Given the description of an element on the screen output the (x, y) to click on. 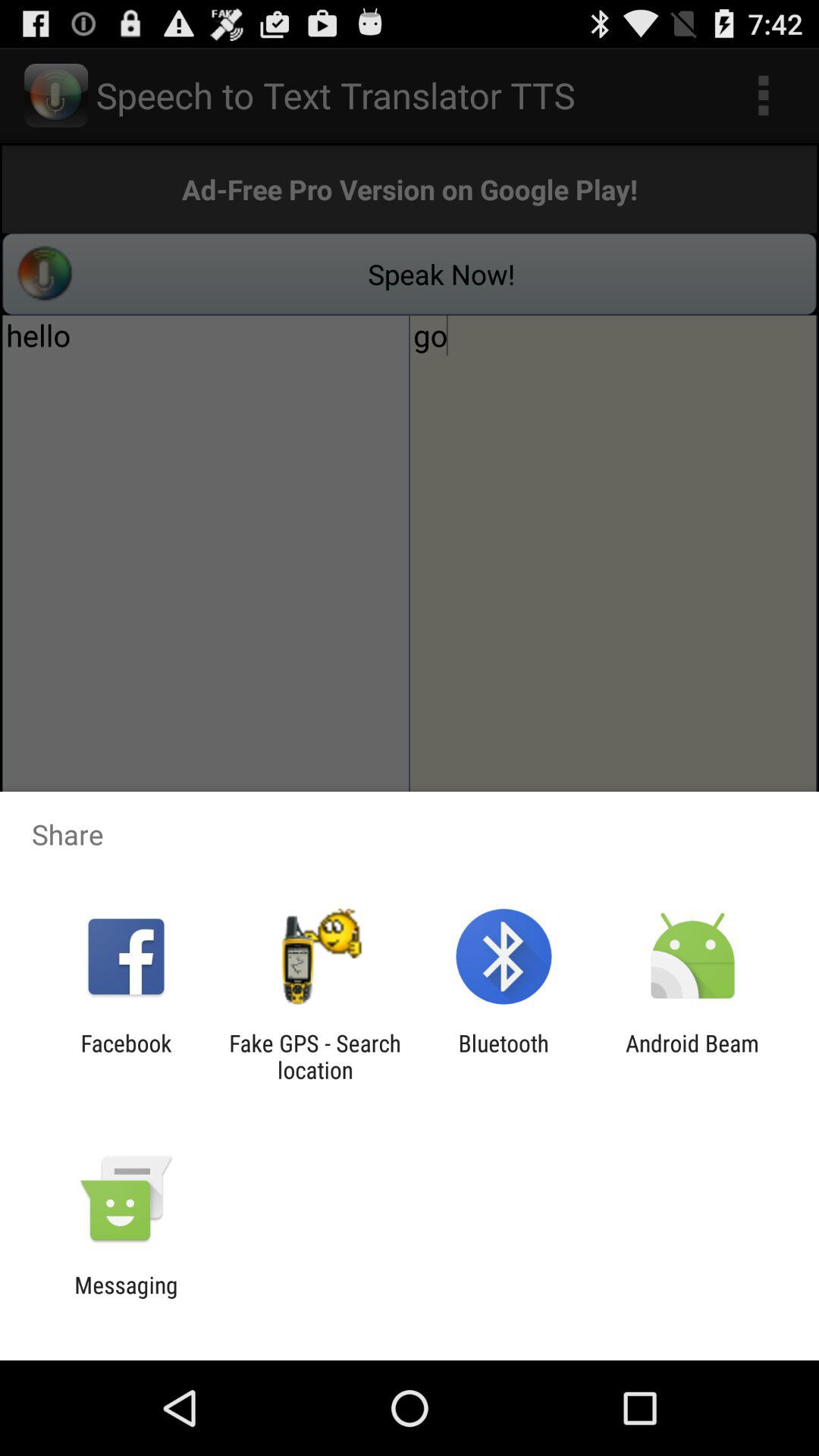
click item to the right of facebook item (314, 1056)
